Given the description of an element on the screen output the (x, y) to click on. 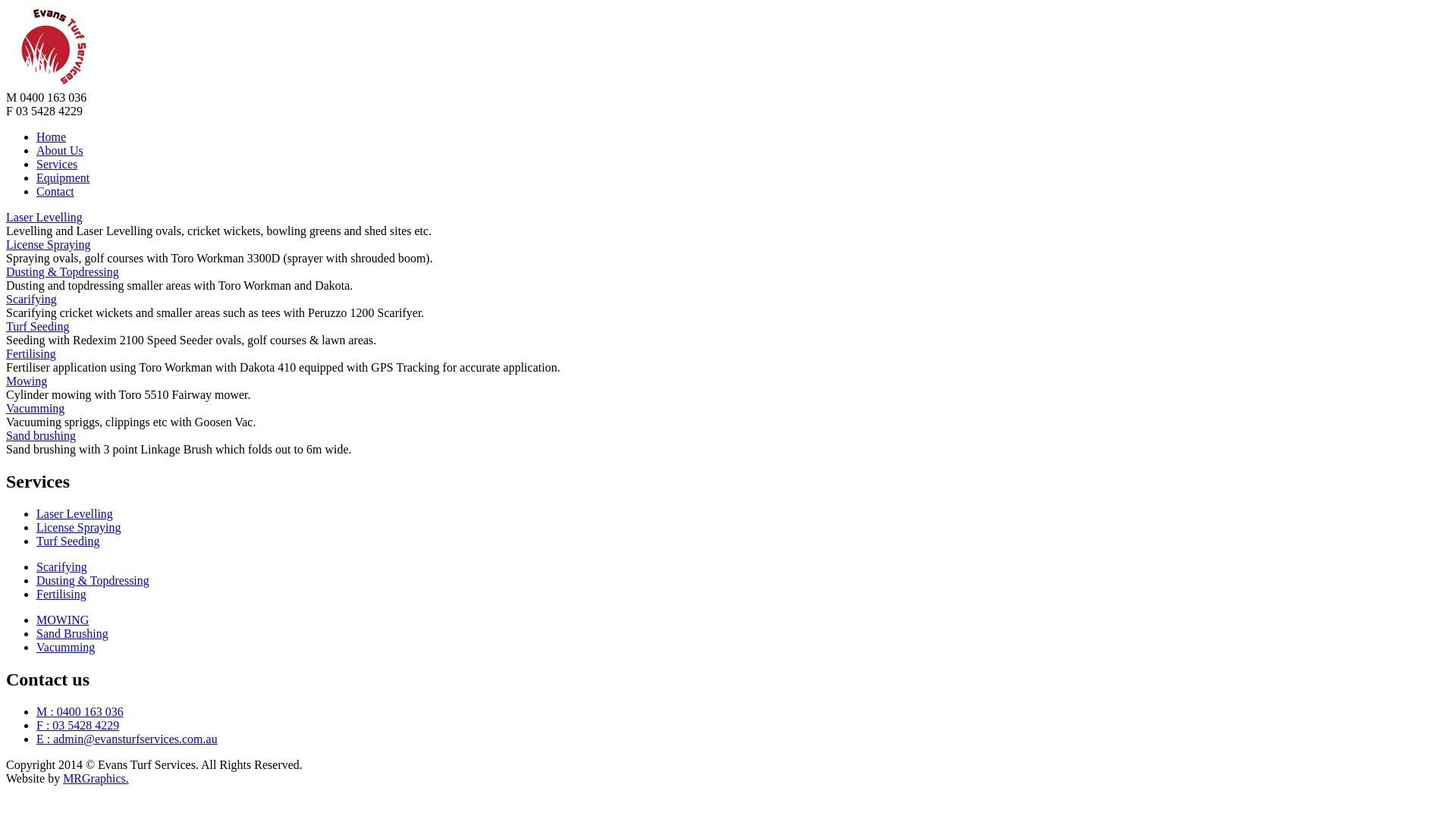
Mowing Element type: text (26, 380)
License Spraying Element type: text (78, 526)
MOWING Element type: text (62, 619)
F : 03 5428 4229 Element type: text (77, 724)
Sand brushing Element type: text (40, 435)
Fertilising Element type: text (61, 593)
Dusting & Topdressing Element type: text (92, 580)
Vacumming Element type: text (35, 407)
Laser Levelling Element type: text (74, 513)
Scarifying Element type: text (61, 566)
Turf Seeding Element type: text (67, 540)
Turf Seeding Element type: text (37, 326)
Scarifying Element type: text (31, 298)
Vacumming Element type: text (65, 646)
About Us Element type: text (59, 150)
MRGraphics. Element type: text (95, 777)
License Spraying Element type: text (48, 244)
M : 0400 163 036 Element type: text (79, 711)
Equipment Element type: text (62, 177)
Home Element type: text (50, 136)
Services Element type: text (56, 163)
Laser Levelling Element type: text (44, 216)
E : admin@evansturfservices.com.au Element type: text (126, 738)
Sand Brushing Element type: text (72, 633)
Fertilising Element type: text (31, 353)
Dusting & Topdressing Element type: text (62, 271)
Contact Element type: text (55, 191)
